Given the description of an element on the screen output the (x, y) to click on. 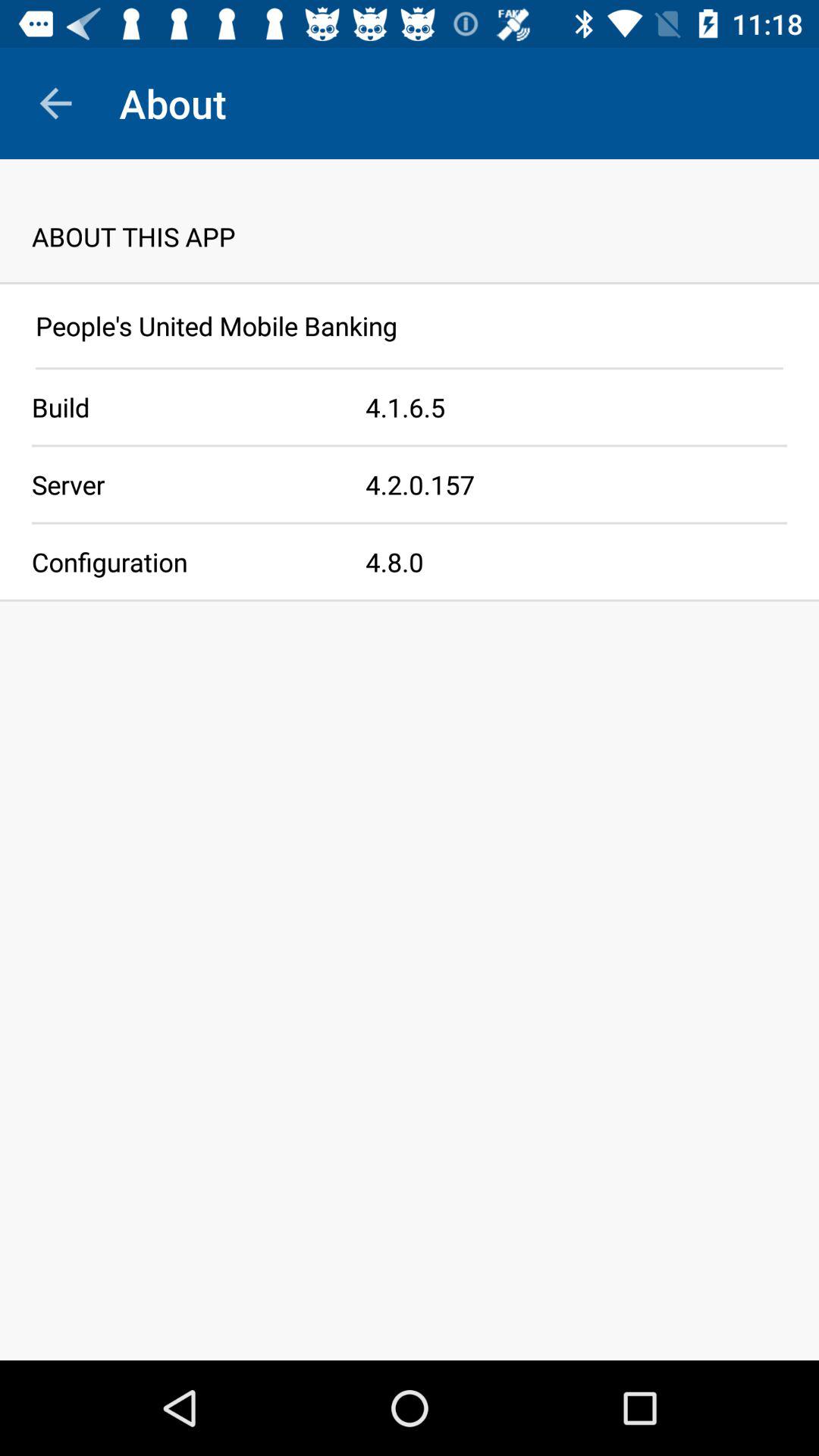
scroll until build item (182, 406)
